Given the description of an element on the screen output the (x, y) to click on. 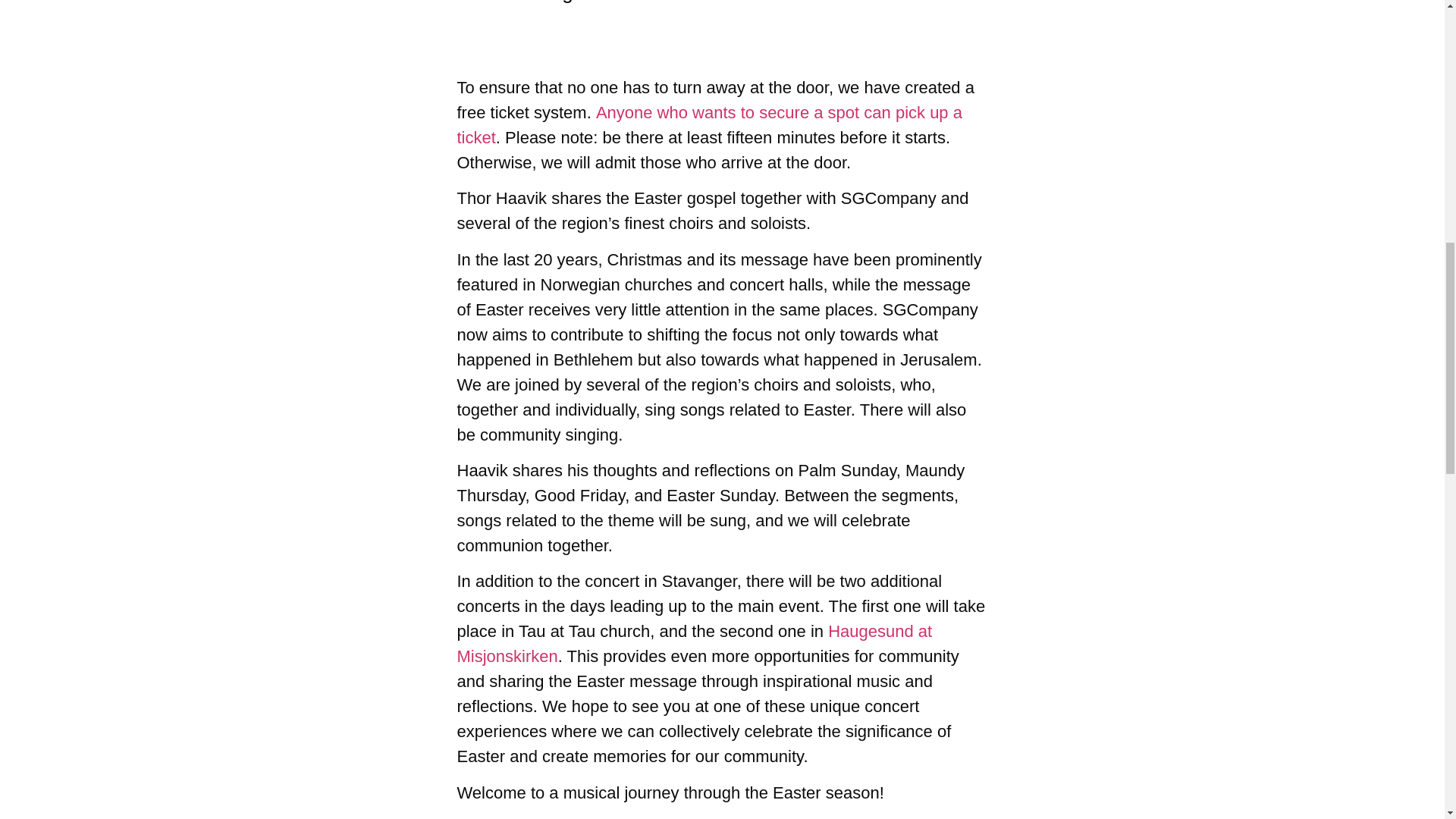
Haugesund at Misjonskirken (694, 643)
Anyone who wants to secure a spot can pick up a ticket (708, 125)
